Given the description of an element on the screen output the (x, y) to click on. 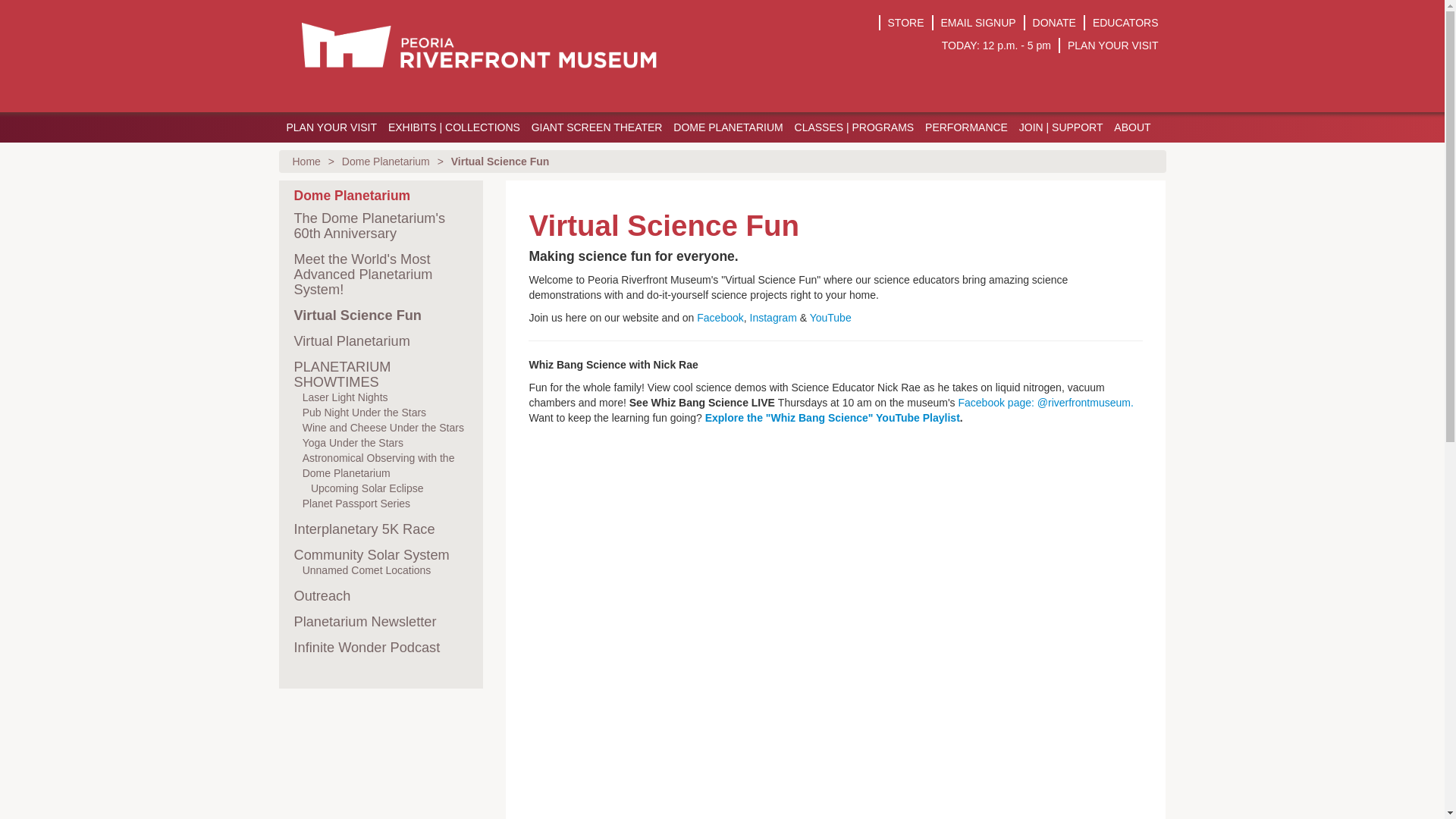
TODAY: 12 p.m. - 5 pm (996, 45)
PLAN YOUR VISIT (1112, 45)
EMAIL SIGNUP (978, 22)
DONATE (1053, 22)
EDUCATORS (1125, 22)
PLAN YOUR VISIT (331, 127)
STORE (906, 22)
